Given the description of an element on the screen output the (x, y) to click on. 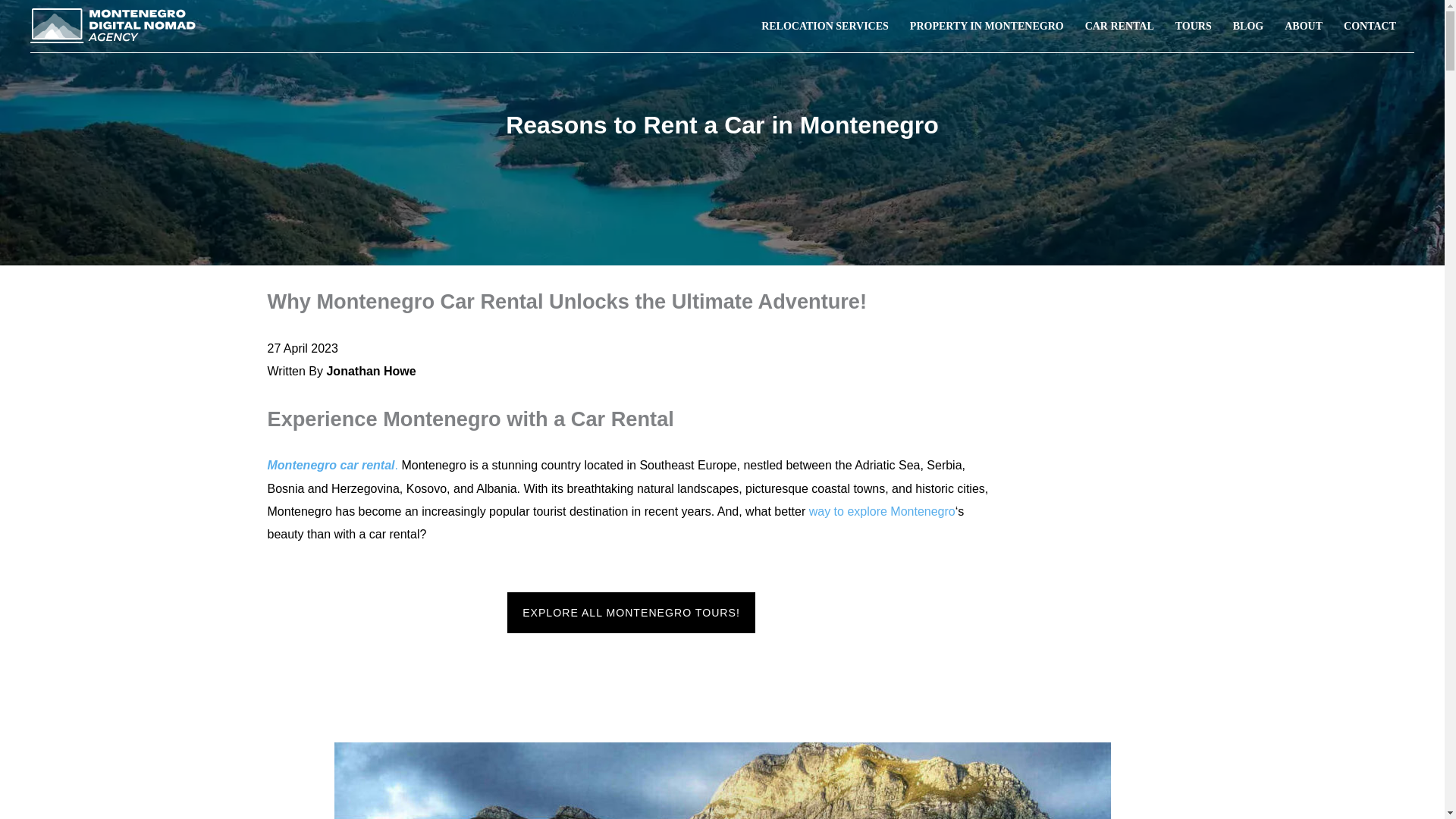
RELOCATION SERVICES (825, 26)
TOURS (1193, 26)
ABOUT (1303, 26)
Jonathan Howe (370, 370)
way to explore Montenegro (882, 511)
PROPERTY IN MONTENEGRO (986, 26)
Montenegro car rental. (331, 464)
CAR RENTAL (1119, 26)
EXPLORE ALL MONTENEGRO TOURS! (630, 612)
BLOG (1248, 26)
CONTACT (1369, 26)
